Given the description of an element on the screen output the (x, y) to click on. 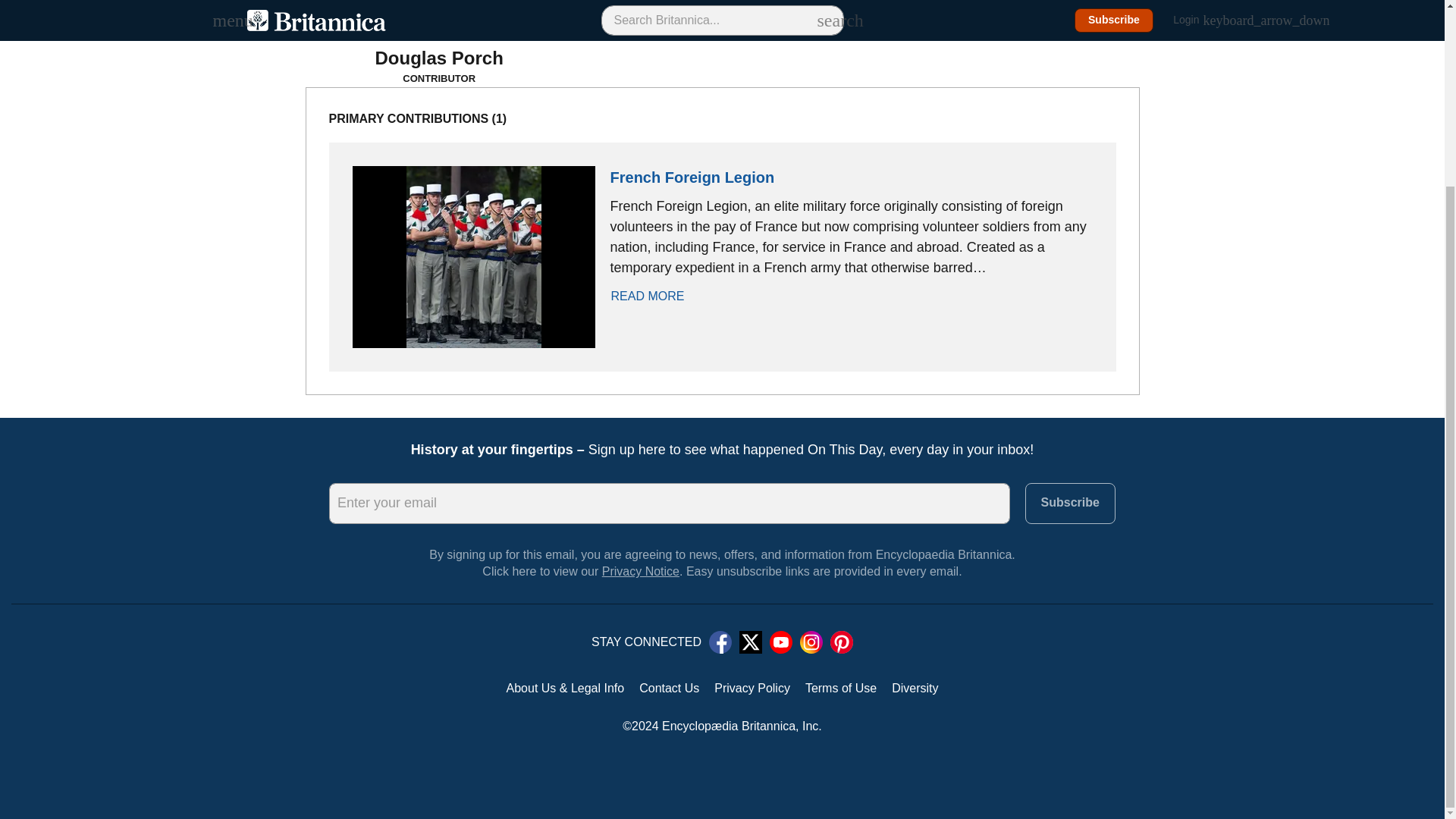
Privacy Policy (751, 688)
READ MORE (655, 296)
French Foreign Legion (692, 176)
Subscribe (1070, 503)
Terms of Use (840, 688)
Contact Us (668, 688)
Diversity (913, 688)
Privacy Notice (640, 571)
